Given the description of an element on the screen output the (x, y) to click on. 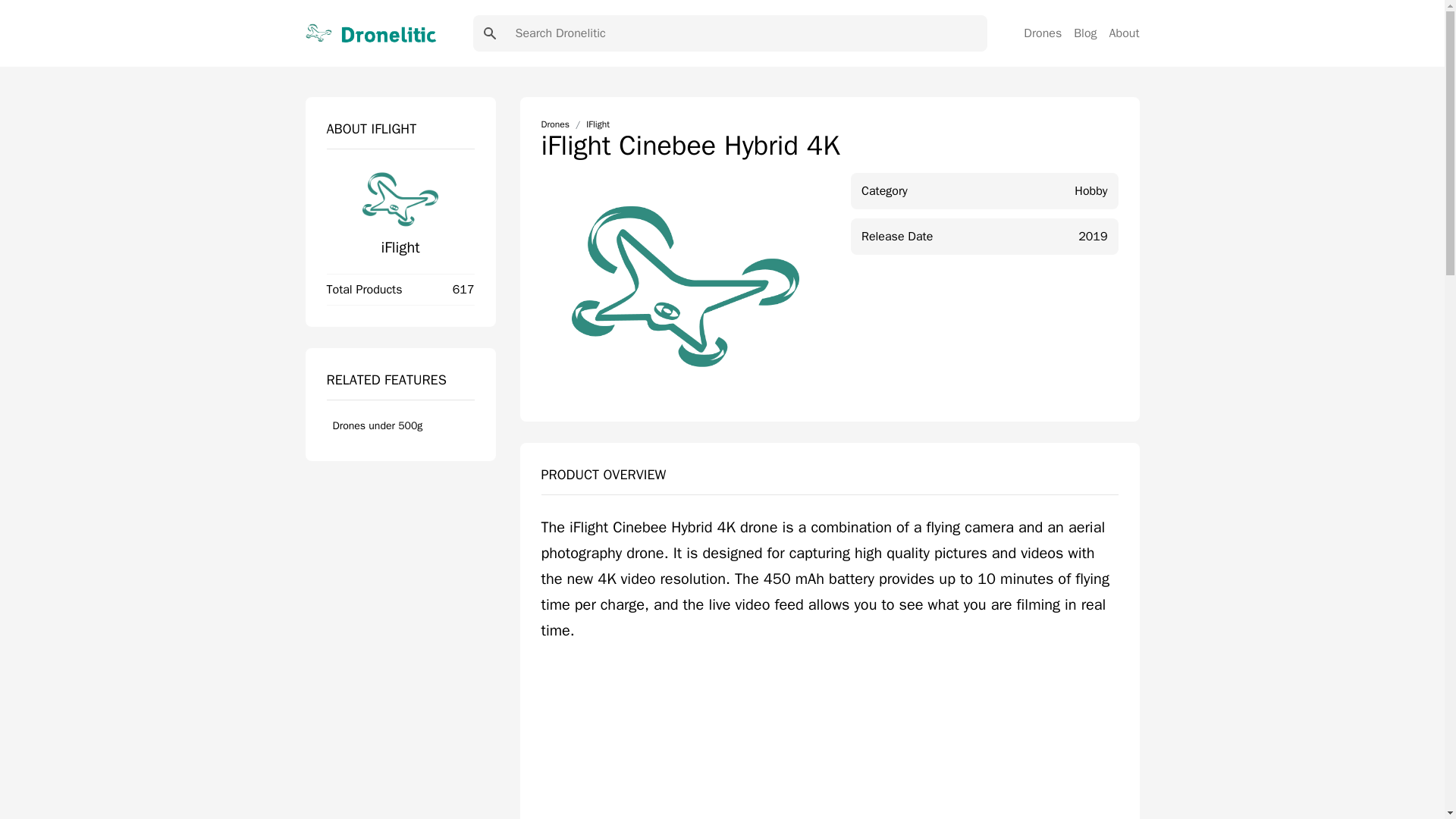
Drones (555, 123)
Blog (1085, 33)
iFlight (399, 247)
iFlight Cinebee Hybrid 4K (829, 741)
Search Submit  (489, 33)
About (1124, 32)
Drones under 500g (400, 425)
Drones (1042, 32)
IFlight (598, 123)
